Given the description of an element on the screen output the (x, y) to click on. 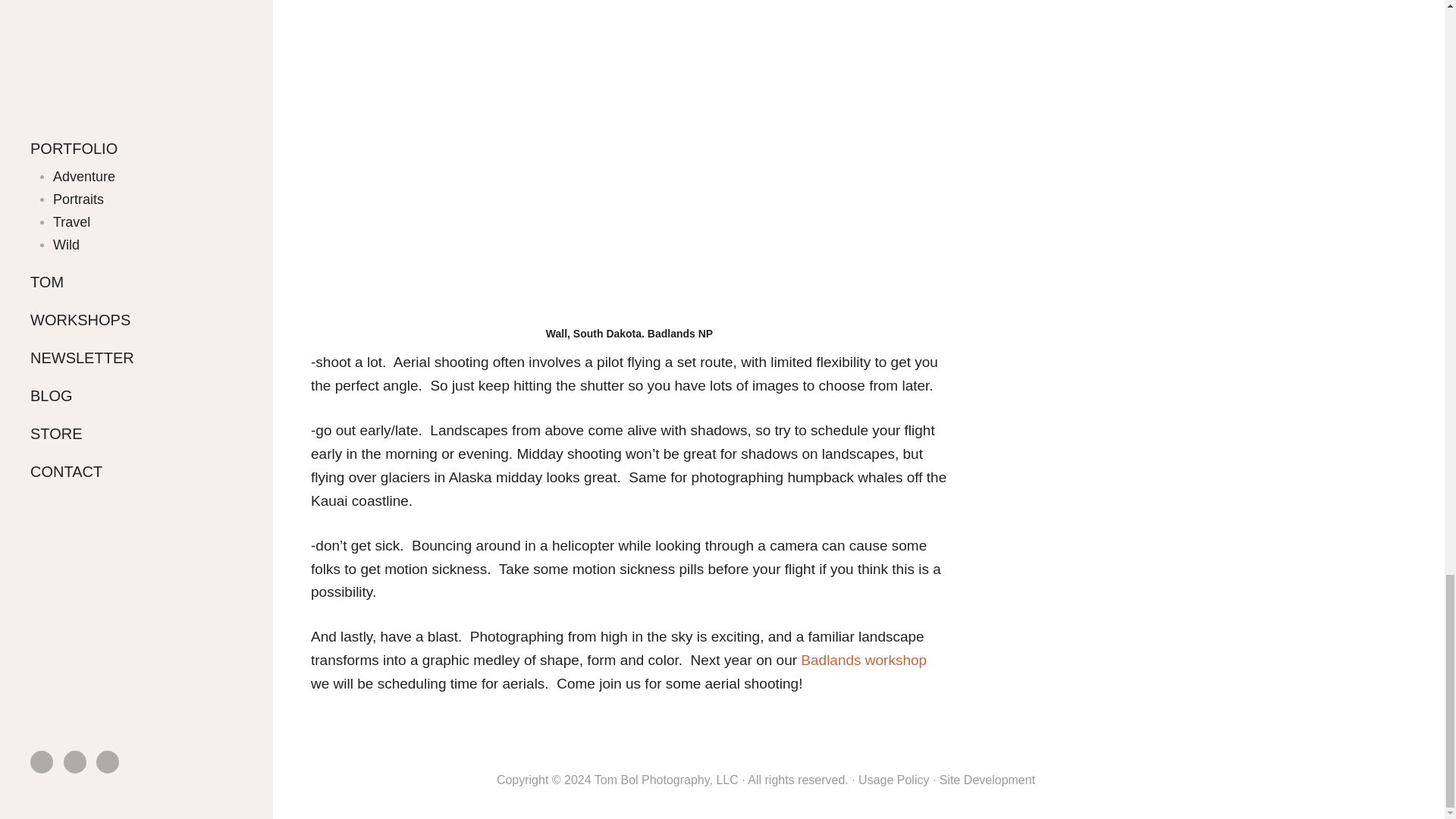
Usage Policy (893, 779)
Site Development (987, 779)
Tom Bol Photography, LLC (666, 779)
Tom Bol Photography, LLC (666, 779)
Badlands workshop (863, 659)
